Given the description of an element on the screen output the (x, y) to click on. 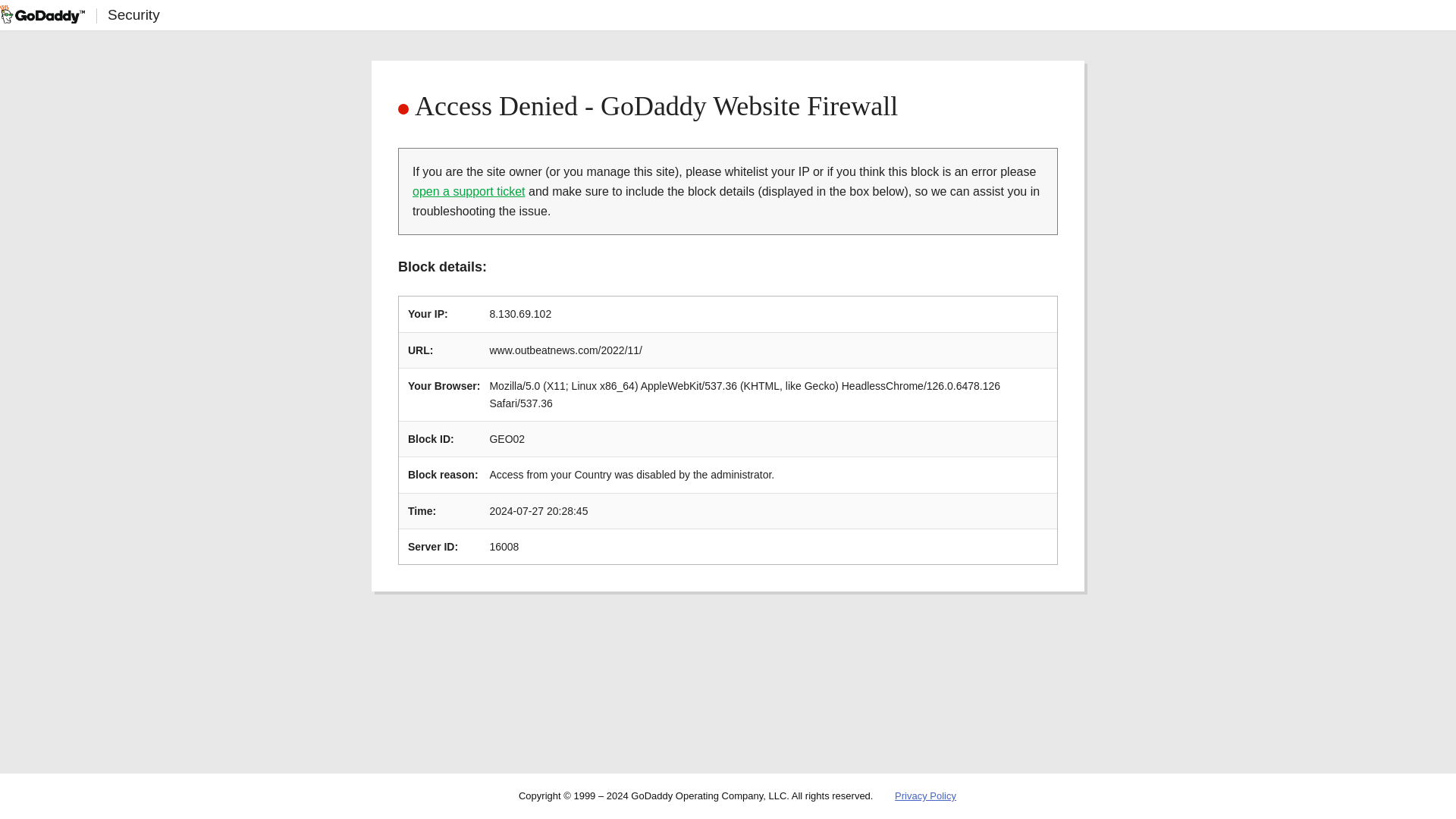
Privacy Policy (925, 795)
open a support ticket (468, 191)
